Given the description of an element on the screen output the (x, y) to click on. 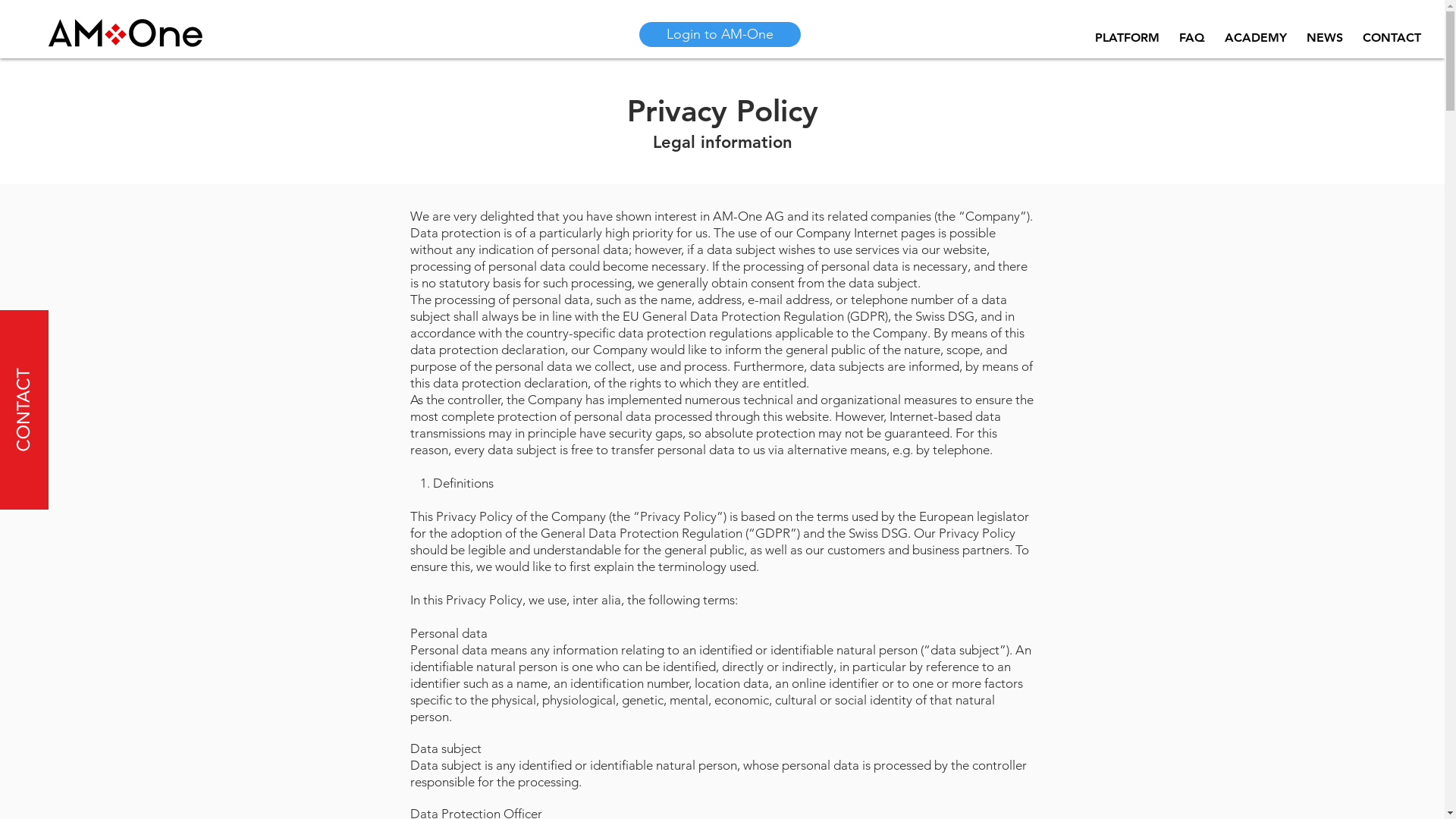
NEWS Element type: text (1324, 37)
FAQ Element type: text (1191, 37)
ACADEMY Element type: text (1255, 37)
PLATFORM Element type: text (1127, 37)
Login to AM-One Element type: text (719, 34)
CONTACT Element type: text (1391, 37)
